Given the description of an element on the screen output the (x, y) to click on. 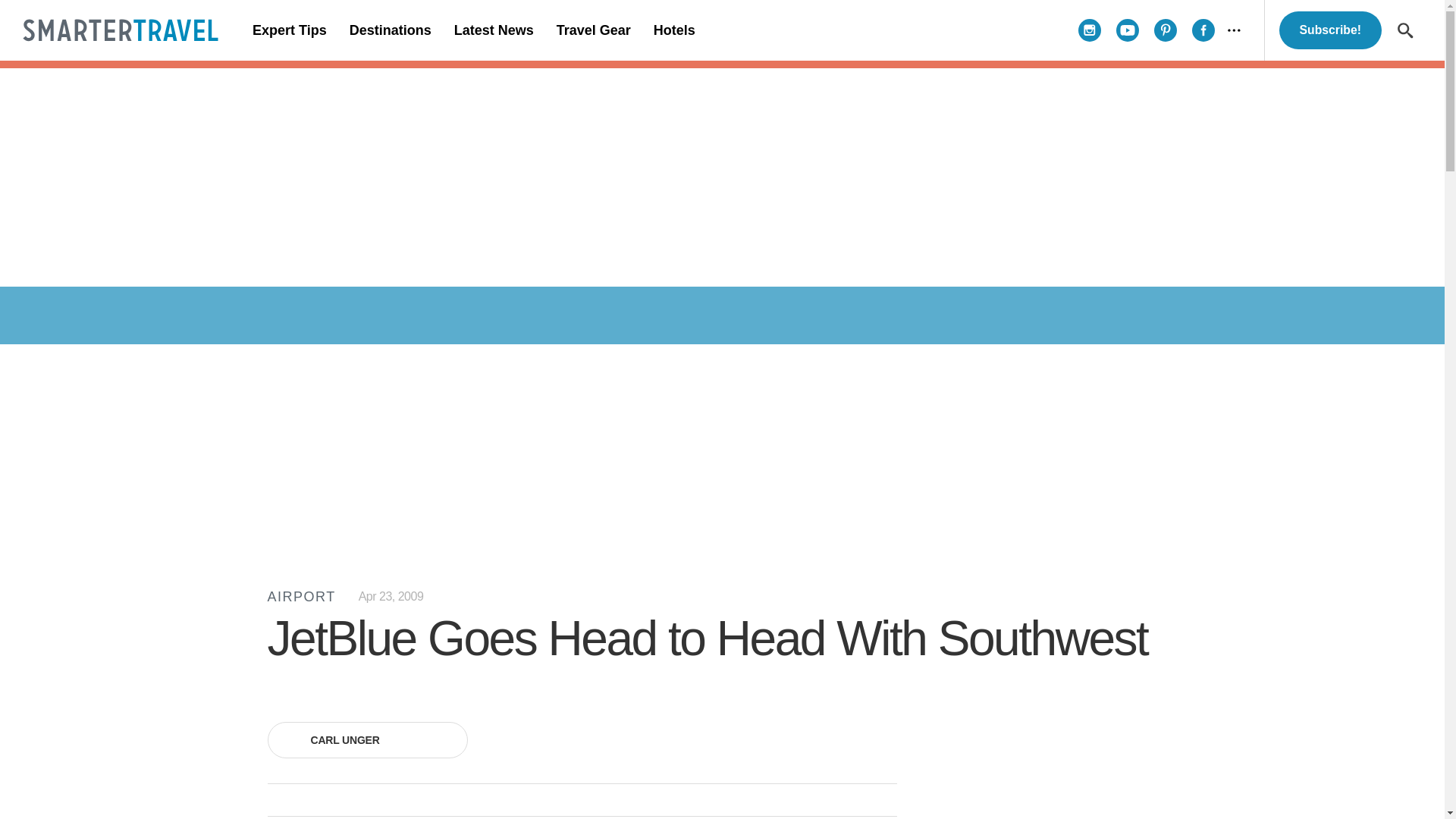
Expert Tips (289, 30)
Travel Gear (593, 30)
Hotels (674, 30)
Latest News (493, 30)
Subscribe! (1330, 30)
Destinations (389, 30)
